Given the description of an element on the screen output the (x, y) to click on. 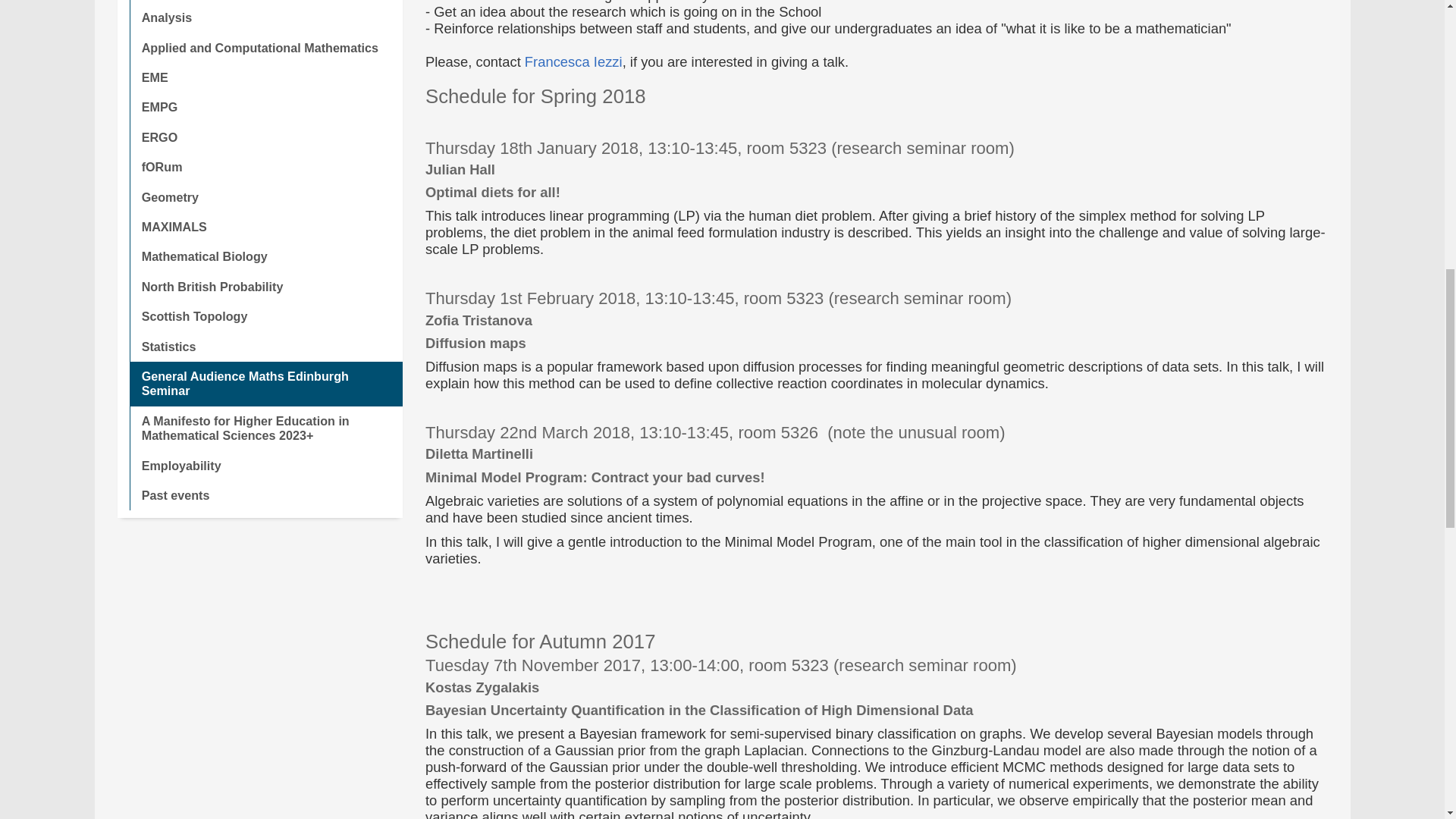
ERGO (266, 137)
Scottish Topology (266, 316)
EME (266, 77)
Francesca Iezzi's webpage (573, 61)
Past events (266, 495)
Geometry (266, 197)
Mathematical Biology (266, 256)
Undergraduate Operational Research Challenge (266, 1)
North British Probability (266, 286)
General Audience Maths Edinburgh Seminar (266, 383)
